Given the description of an element on the screen output the (x, y) to click on. 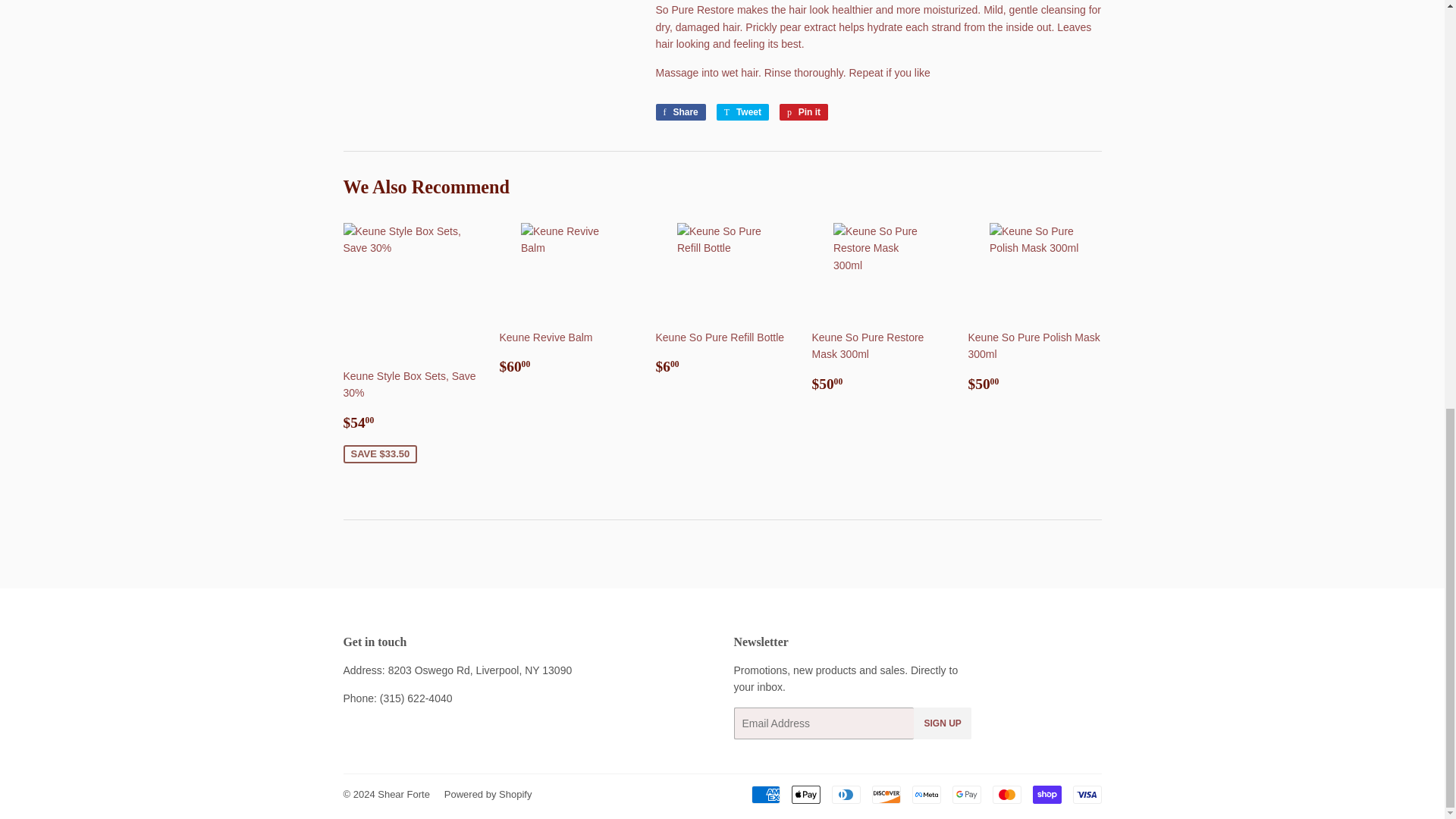
Meta Pay (679, 112)
Powered by Shopify (925, 794)
Diners Club (488, 794)
Shear Forte (742, 112)
Shop Pay (845, 794)
Visa (403, 794)
Tweet on Twitter (1046, 794)
Apple Pay (1085, 794)
